Given the description of an element on the screen output the (x, y) to click on. 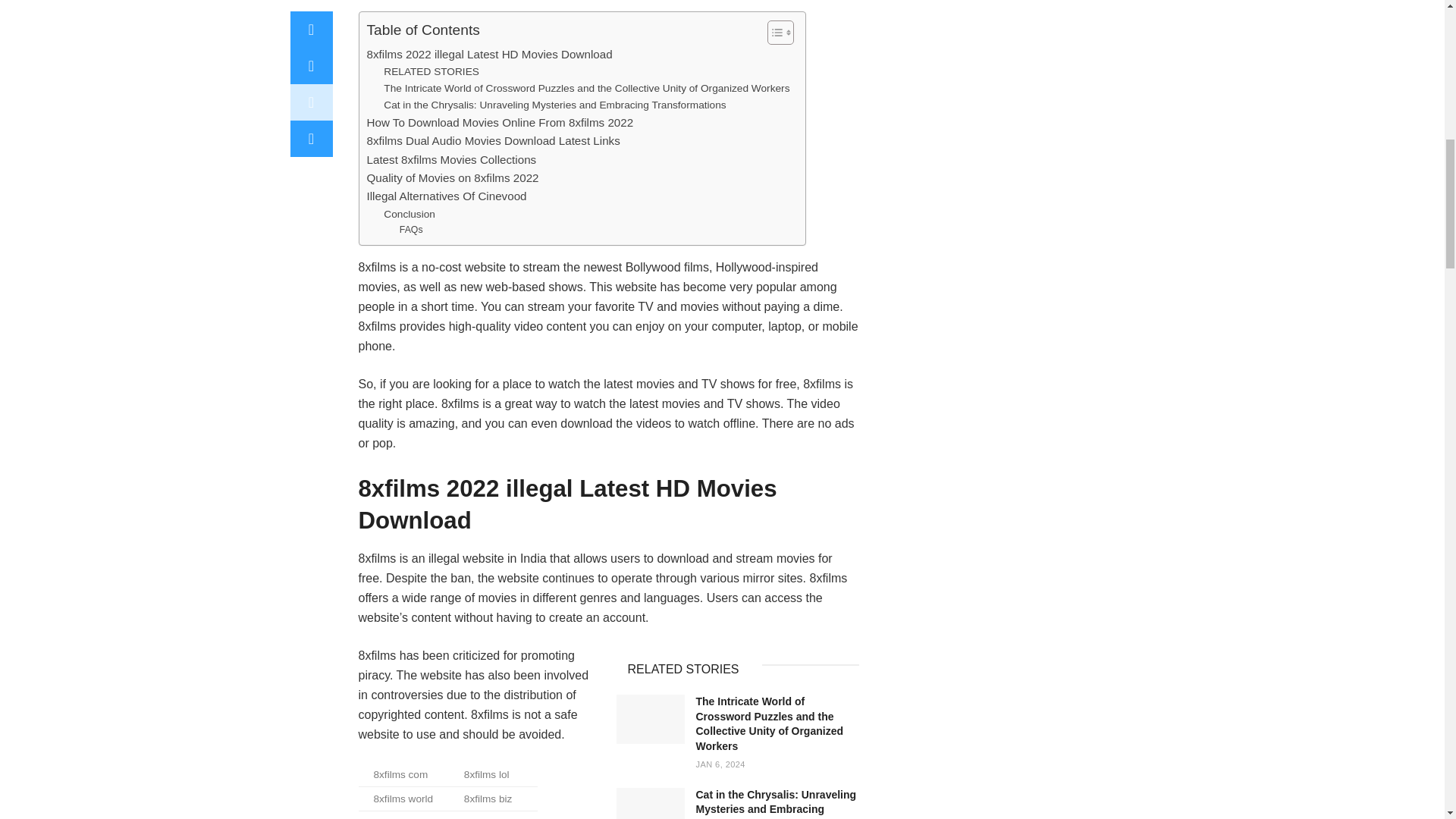
RELATED STORIES (431, 71)
Illegal Alternatives Of Cinevood (446, 196)
Conclusion (409, 214)
FAQs (410, 230)
8xfilms Dual Audio Movies Download Latest Links (493, 140)
Quality of Movies on 8xfilms 2022 (452, 177)
How To Download Movies Online From 8xfilms 2022 (499, 122)
8xfilms 2022 illegal Latest HD Movies Download (489, 54)
Latest 8xfilms Movies Collections (451, 159)
